Given the description of an element on the screen output the (x, y) to click on. 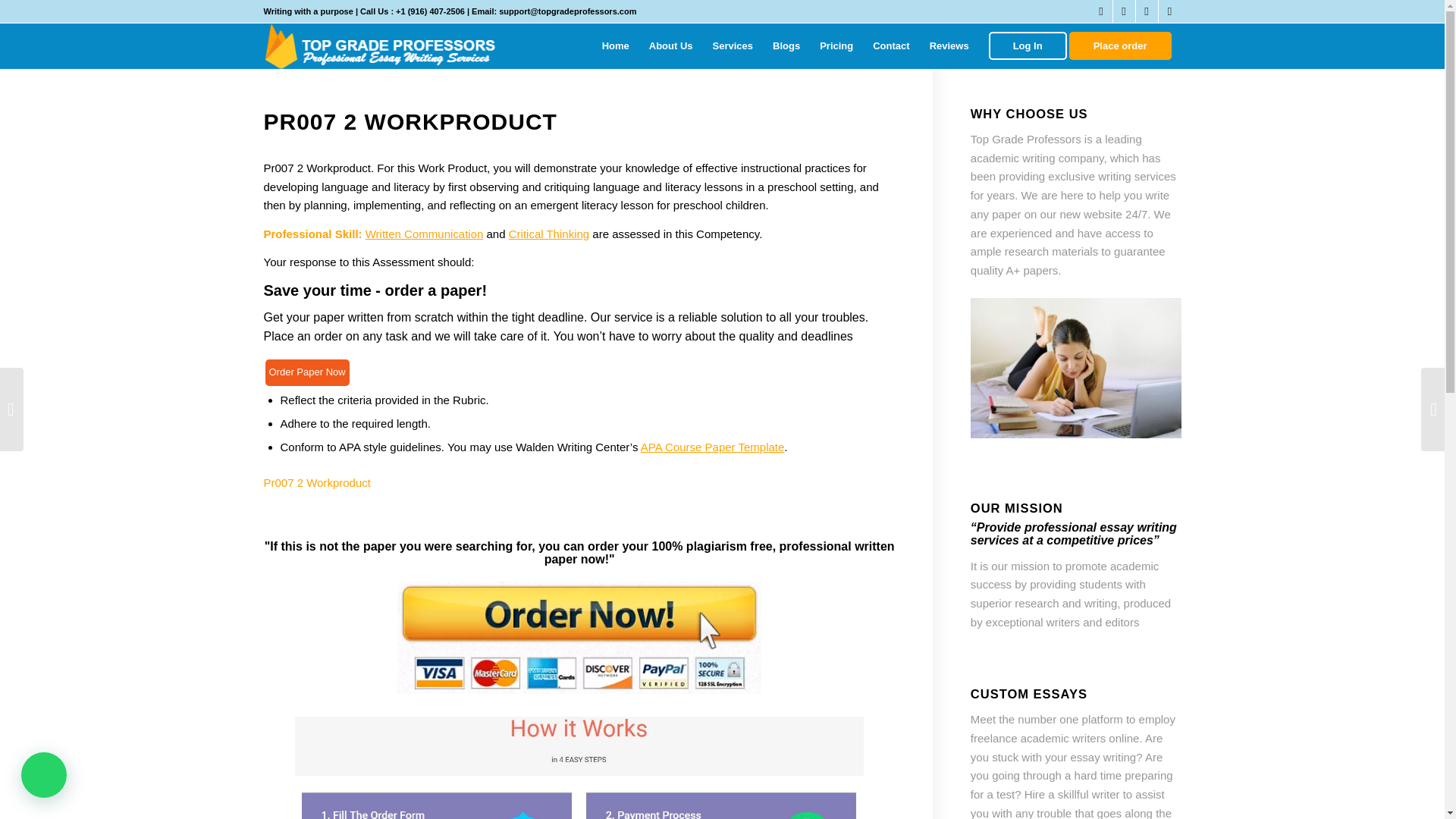
Facebook (1124, 11)
WhatsApp (1169, 11)
Blogs (785, 45)
Log In (1027, 45)
Services (732, 45)
Permanent Link: Pr007 2 Workproduct (410, 121)
Home (615, 45)
Twitter (1101, 11)
Contact (890, 45)
Pricing (836, 45)
Reviews (949, 45)
Tumblr (1146, 11)
About Us (671, 45)
